Given the description of an element on the screen output the (x, y) to click on. 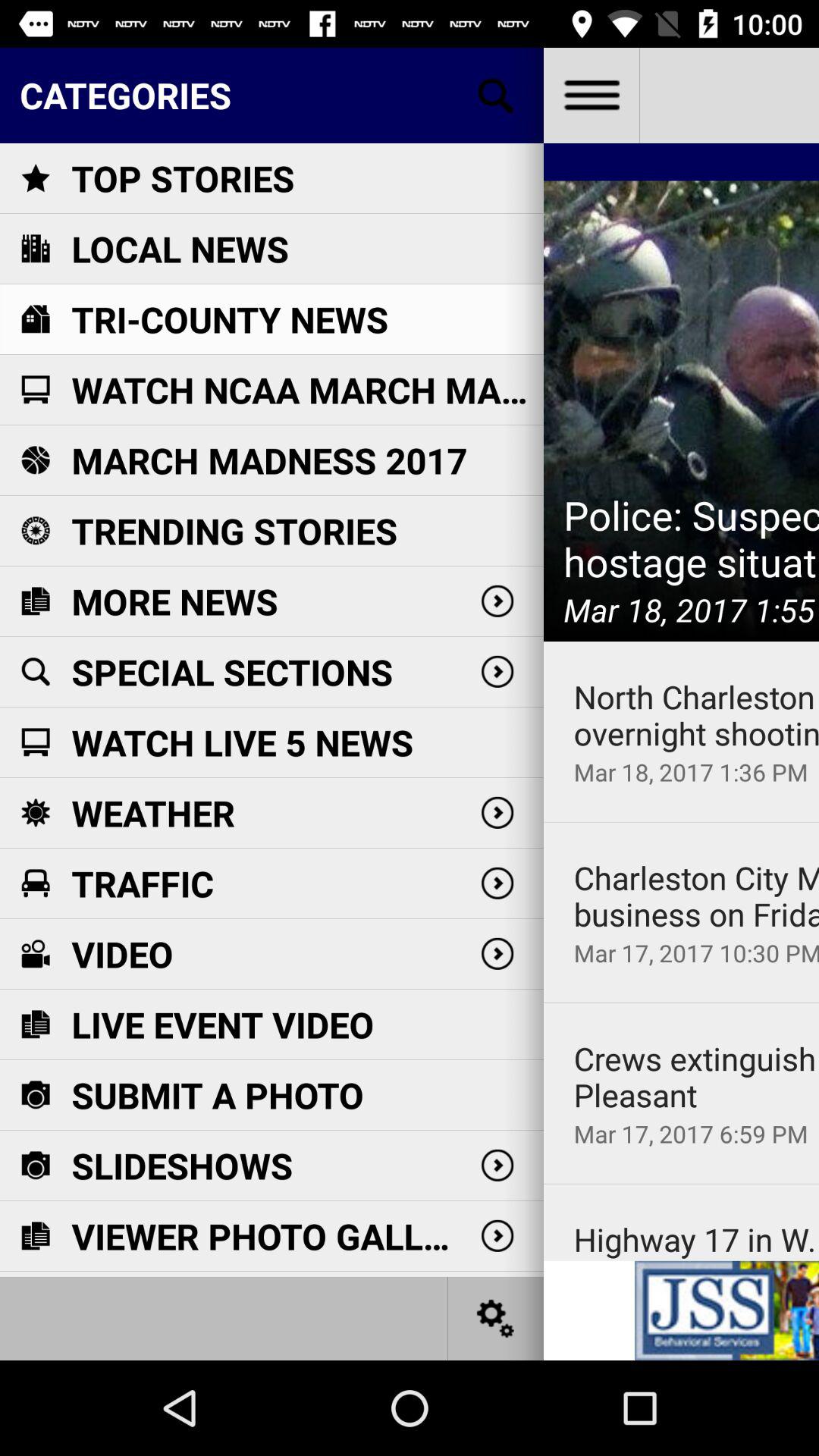
turn off the icon next to the categories item (591, 95)
